Given the description of an element on the screen output the (x, y) to click on. 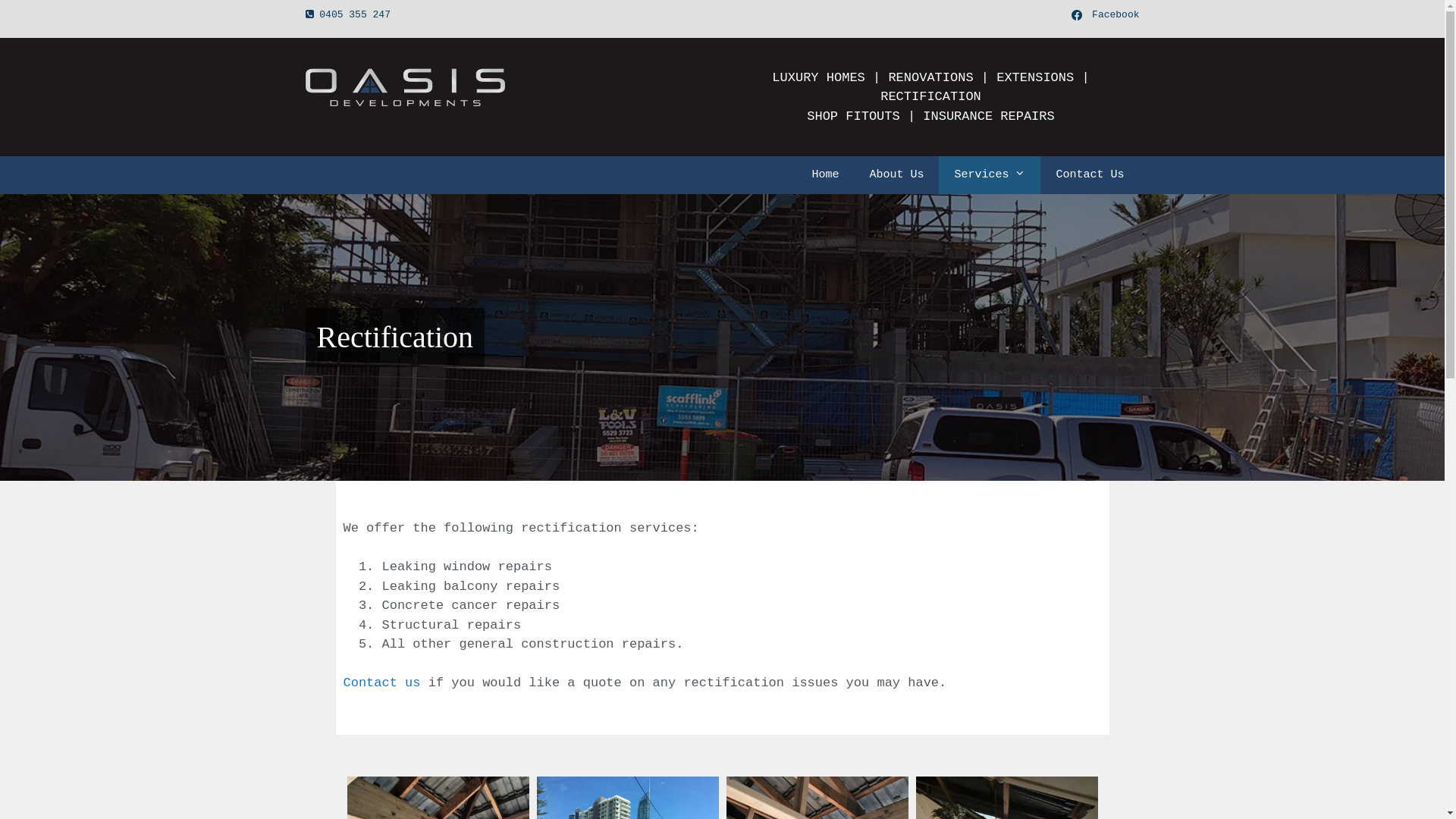
0405 355 247 Element type: text (354, 14)
Facebook Element type: text (1104, 14)
Contact us Element type: text (381, 682)
About Us Element type: text (895, 175)
Contact Us Element type: text (1089, 175)
Home Element type: text (824, 175)
Services Element type: text (989, 175)
